Given the description of an element on the screen output the (x, y) to click on. 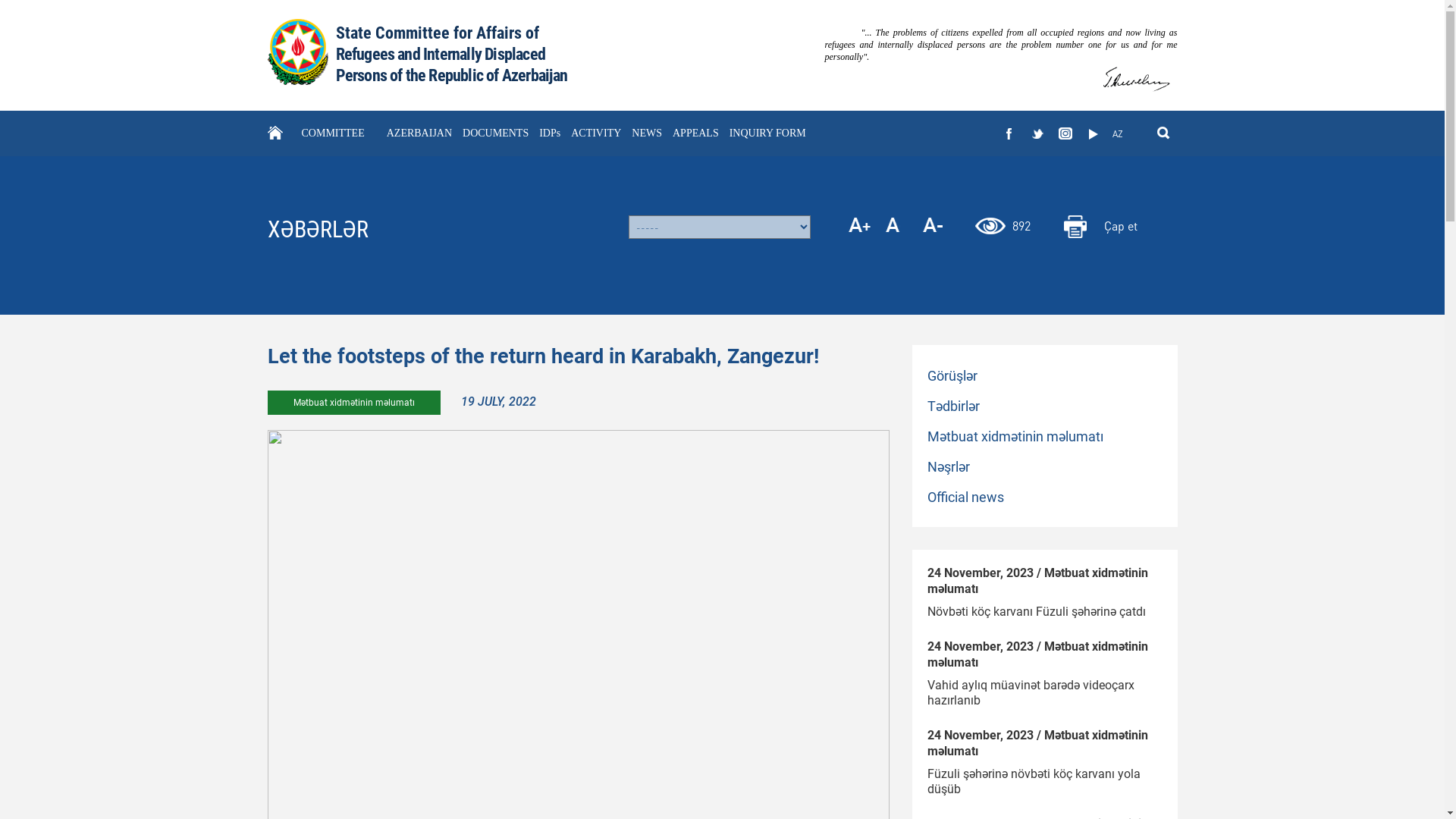
INQUIRY FORM Element type: text (767, 133)
AZERBAIJAN Element type: text (419, 133)
NEWS Element type: text (646, 133)
DOCUMENTS Element type: text (495, 133)
IDPs Element type: text (549, 133)
ACTIVITY Element type: text (595, 133)
AZ Element type: text (1118, 133)
Official news Element type: text (1034, 497)
APPEALS Element type: text (695, 133)
COMMITTEE Element type: text (333, 133)
